Given the description of an element on the screen output the (x, y) to click on. 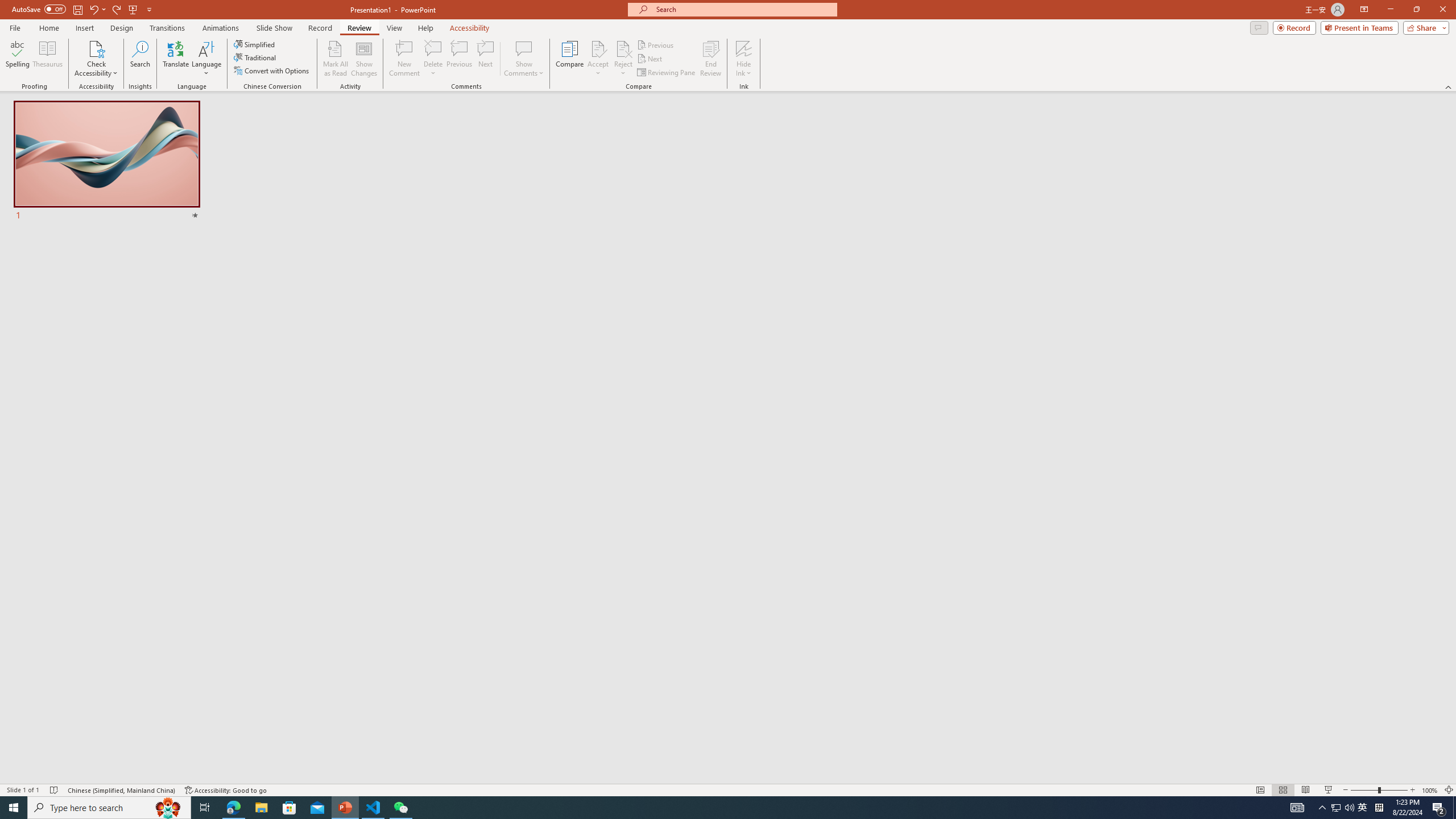
Accept Change (598, 48)
Language (206, 58)
